Given the description of an element on the screen output the (x, y) to click on. 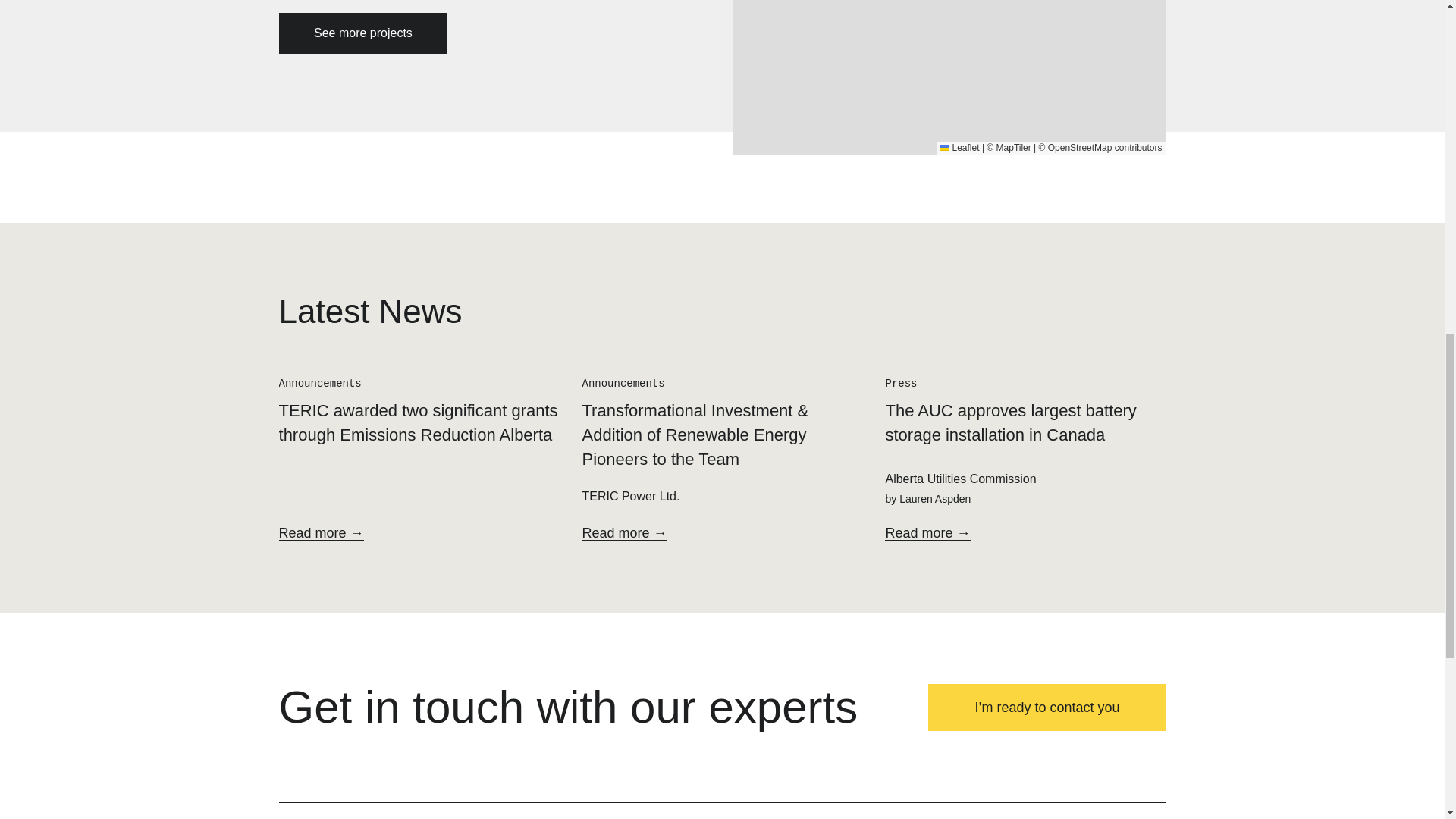
A JavaScript library for interactive maps (959, 147)
Leaflet (959, 147)
See more projects (363, 33)
